Given the description of an element on the screen output the (x, y) to click on. 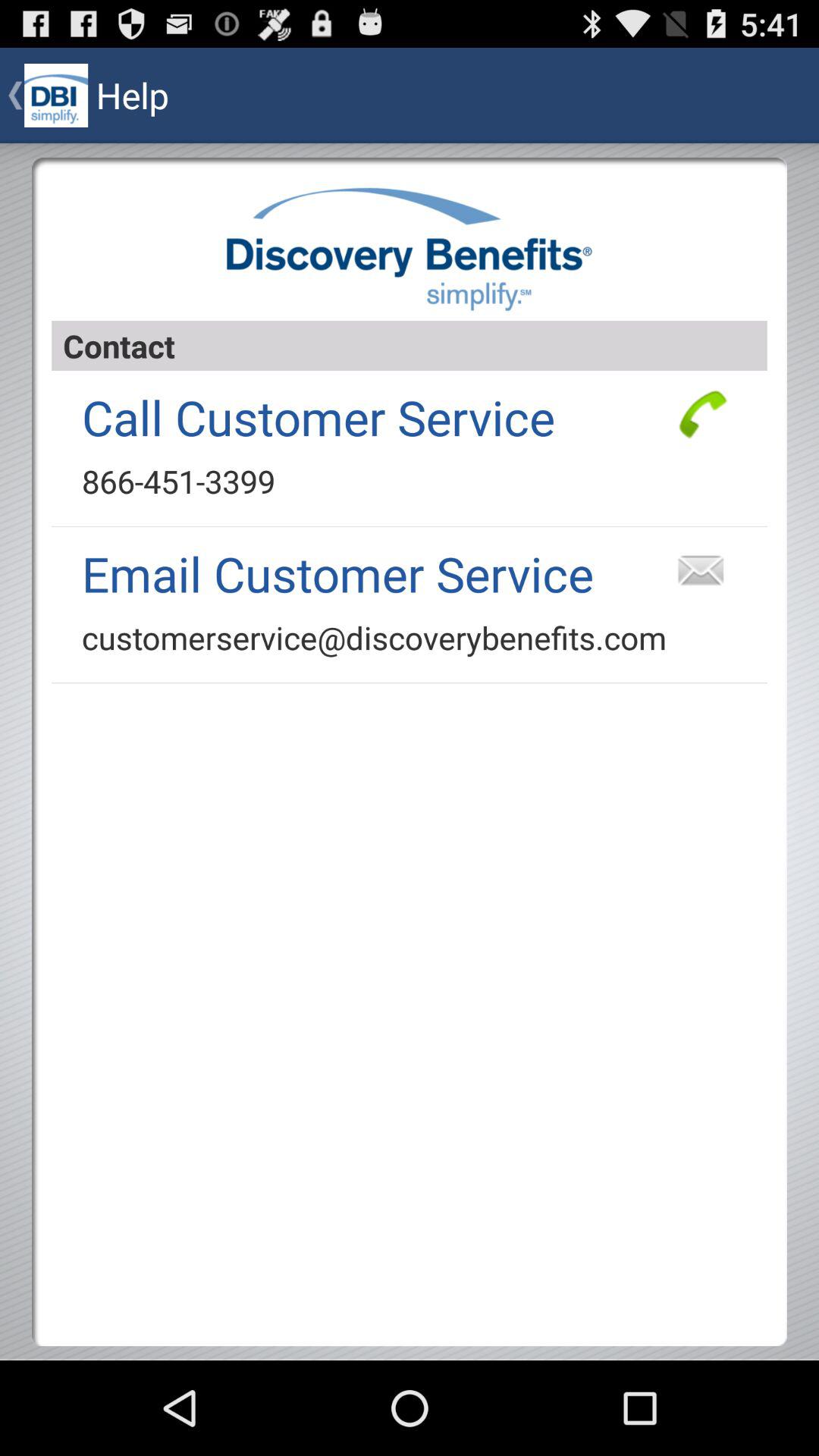
flip to customerservice@discoverybenefits.com app (373, 637)
